Given the description of an element on the screen output the (x, y) to click on. 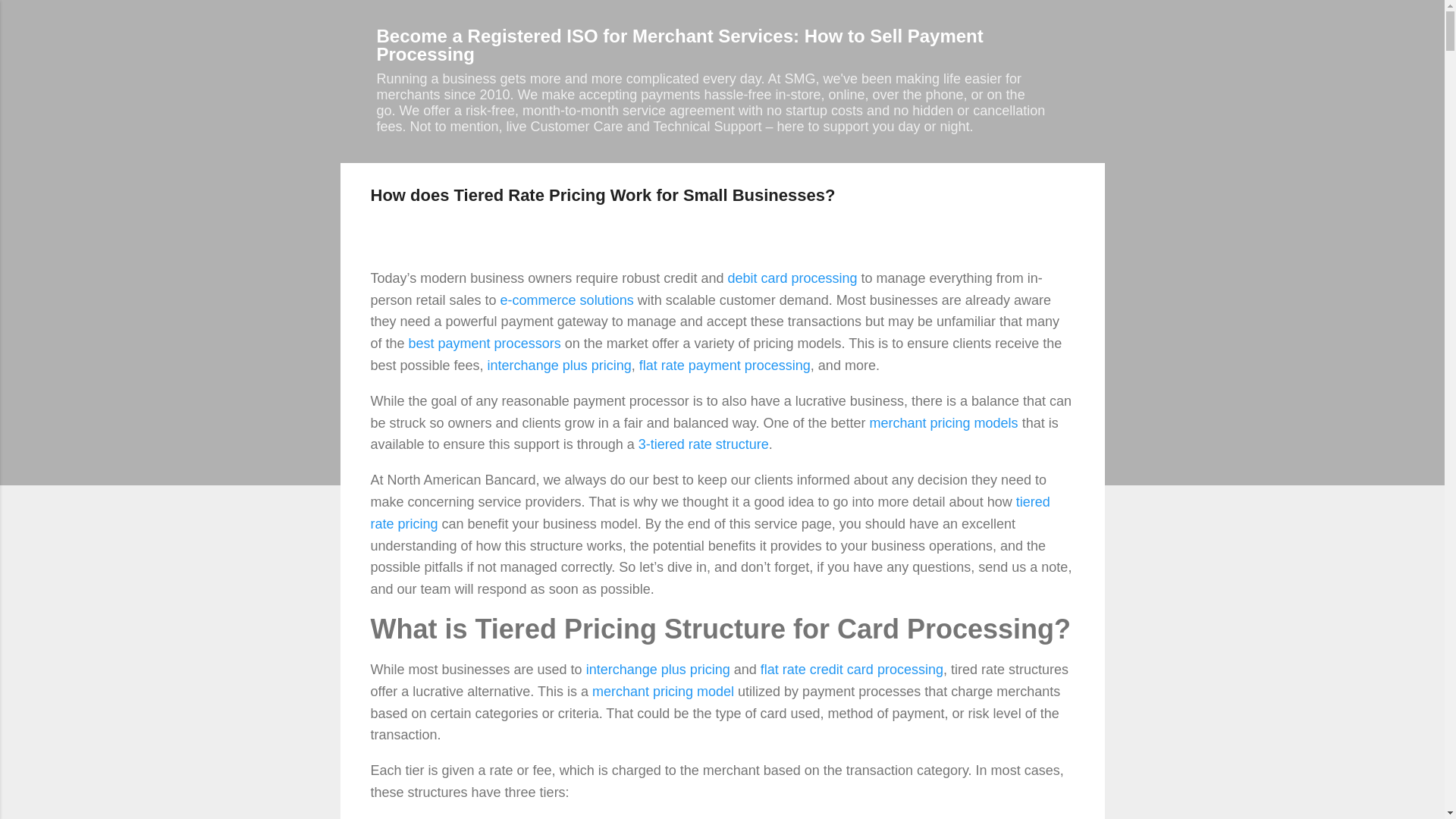
Search (34, 18)
interchange plus pricing (658, 669)
debit card processing (791, 278)
interchange plus pricing (559, 365)
merchant pricing model (662, 691)
flat rate payment processing (724, 365)
e-commerce solutions (566, 299)
best payment processors (484, 343)
3-tiered rate structure (703, 444)
merchant pricing models (943, 422)
flat rate credit card processing (851, 669)
tiered rate pricing (709, 512)
